Given the description of an element on the screen output the (x, y) to click on. 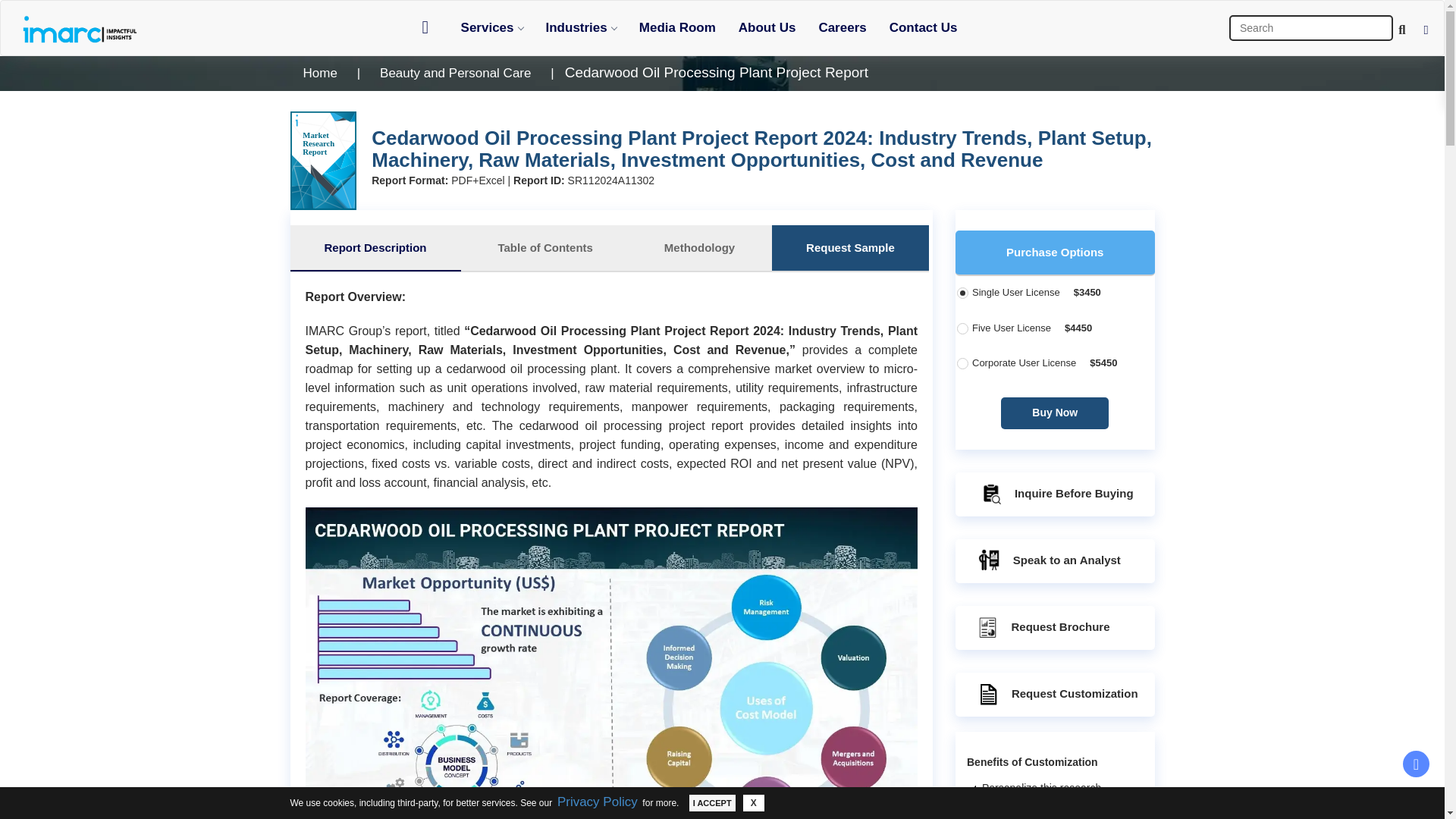
Services (491, 27)
Careers (841, 27)
Contact Us (923, 27)
Industries (580, 27)
Media Room (676, 27)
About Us (767, 27)
